Given the description of an element on the screen output the (x, y) to click on. 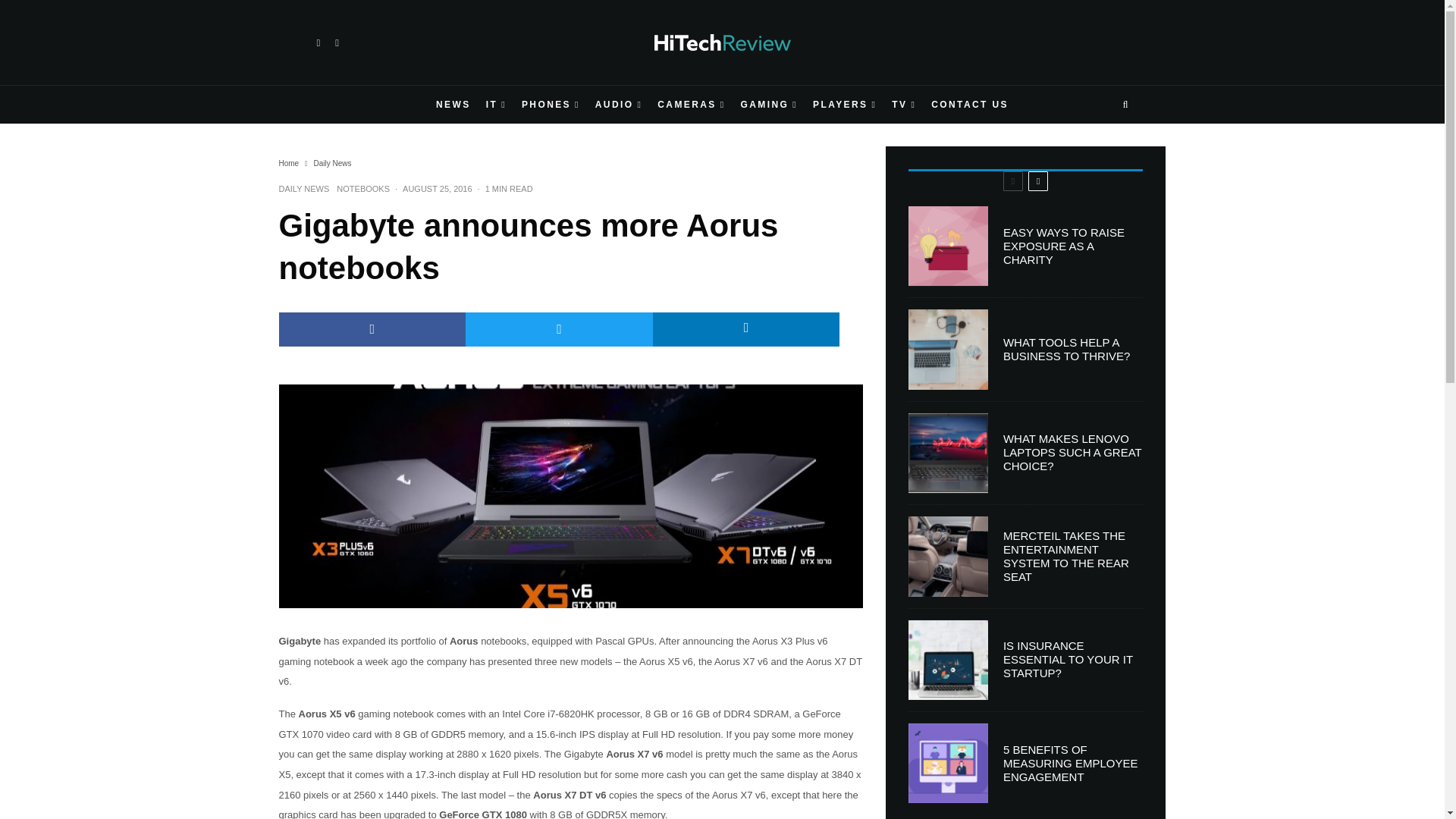
PHONES (550, 104)
NEWS (453, 104)
IT (496, 104)
